Given the description of an element on the screen output the (x, y) to click on. 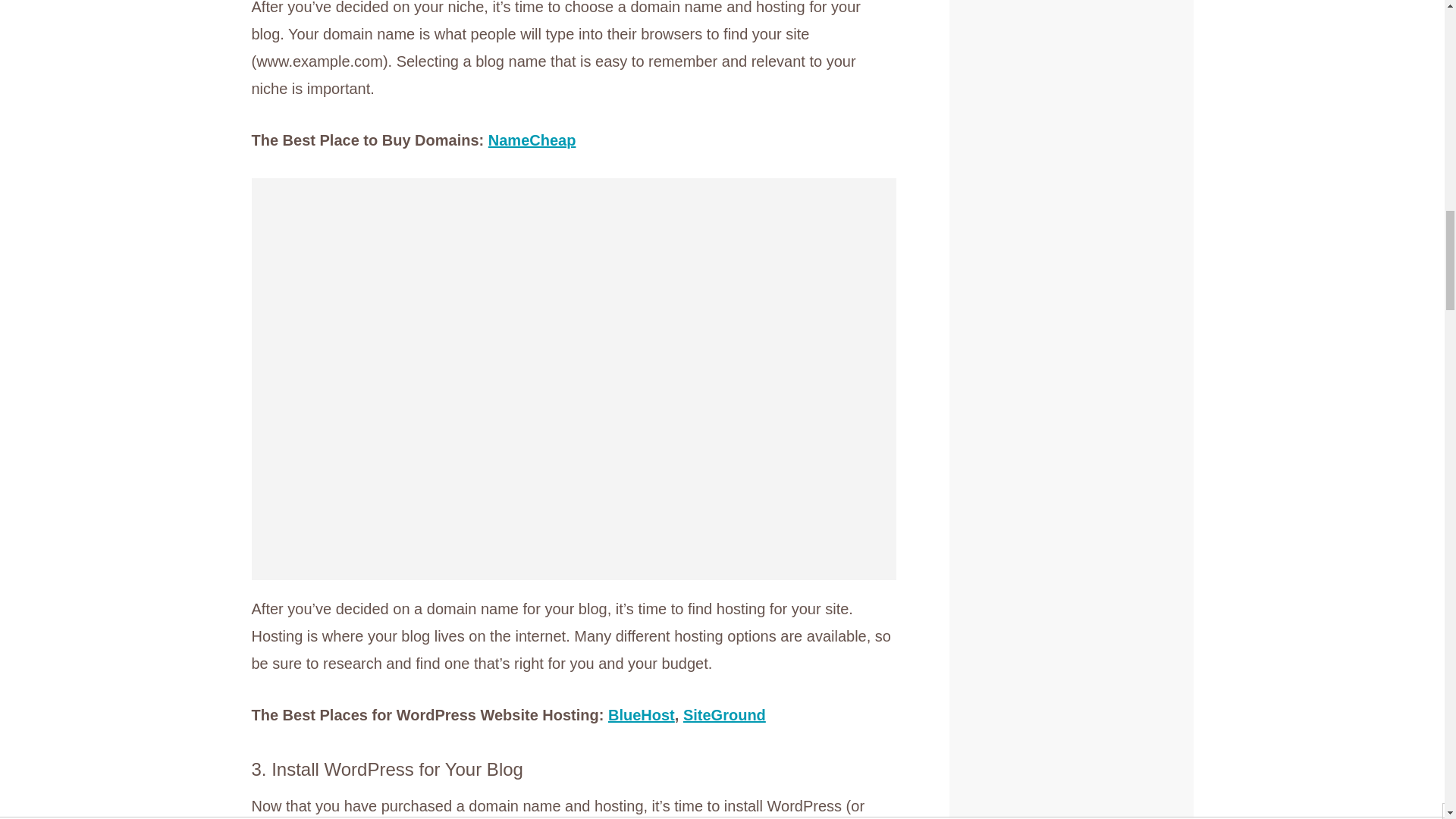
SiteGround (723, 714)
NameCheap (531, 139)
BlueHost (641, 714)
